Given the description of an element on the screen output the (x, y) to click on. 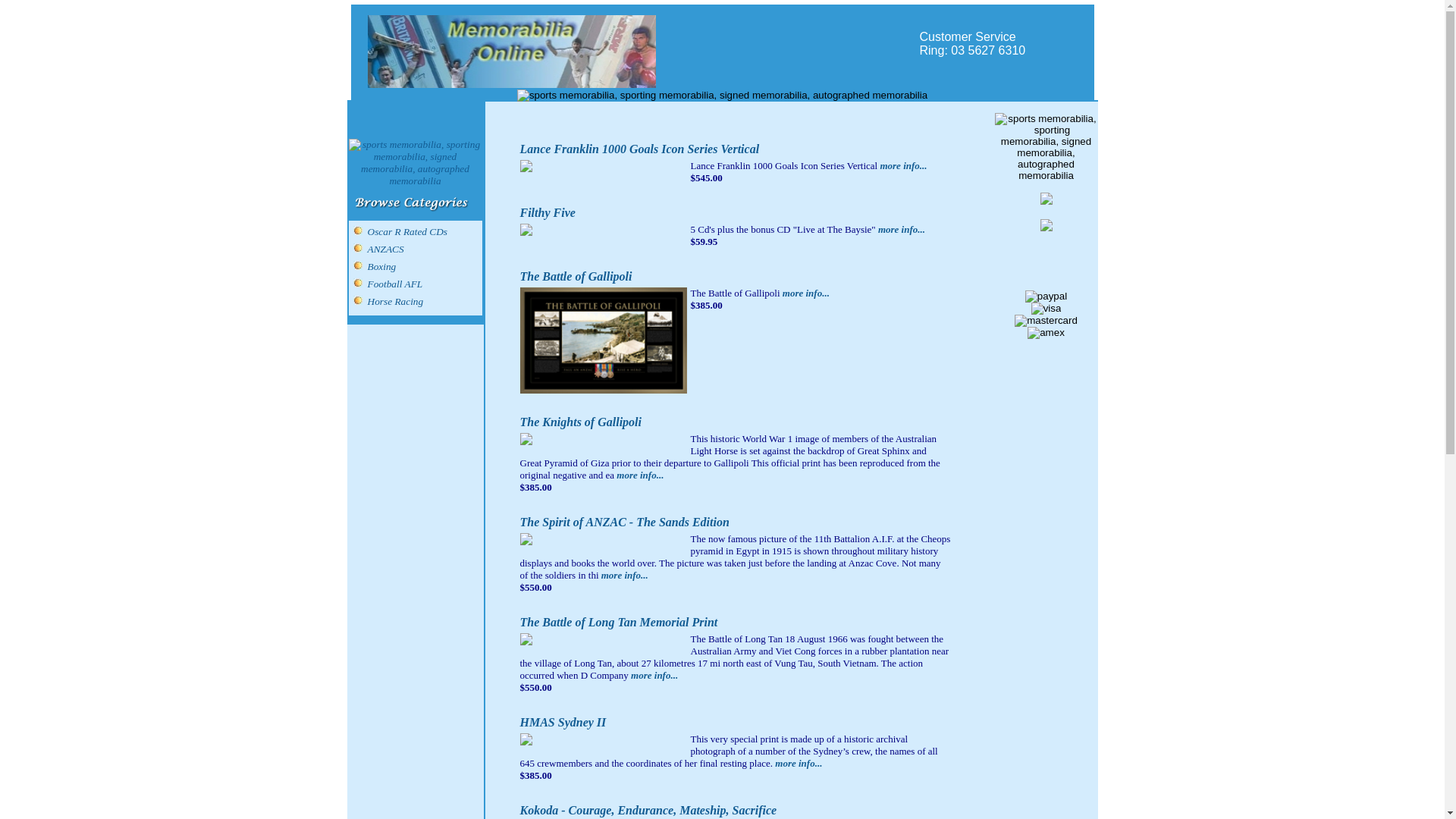
The Battle of Gallipoli Element type: text (576, 277)
ANZACS Element type: text (385, 248)
The Spirit of ANZAC - The Sands Edition Element type: text (624, 523)
more info... Element type: text (901, 167)
more info... Element type: text (652, 676)
Lance Franklin 1000 Goals Icon Series Vertical Element type: text (639, 150)
more info... Element type: text (638, 476)
Boxing Element type: text (381, 266)
Oscar R Rated CDs Element type: text (407, 231)
more info... Element type: text (797, 764)
Filthy Five Element type: text (547, 214)
HMAS Sydney II Element type: text (563, 723)
more info... Element type: text (900, 230)
more info... Element type: text (623, 576)
The Battle of Long Tan Memorial Print Element type: text (619, 623)
The Knights of Gallipoli Element type: text (580, 423)
more info... Element type: text (804, 294)
Football AFL Element type: text (394, 283)
Horse Racing Element type: text (395, 301)
